Given the description of an element on the screen output the (x, y) to click on. 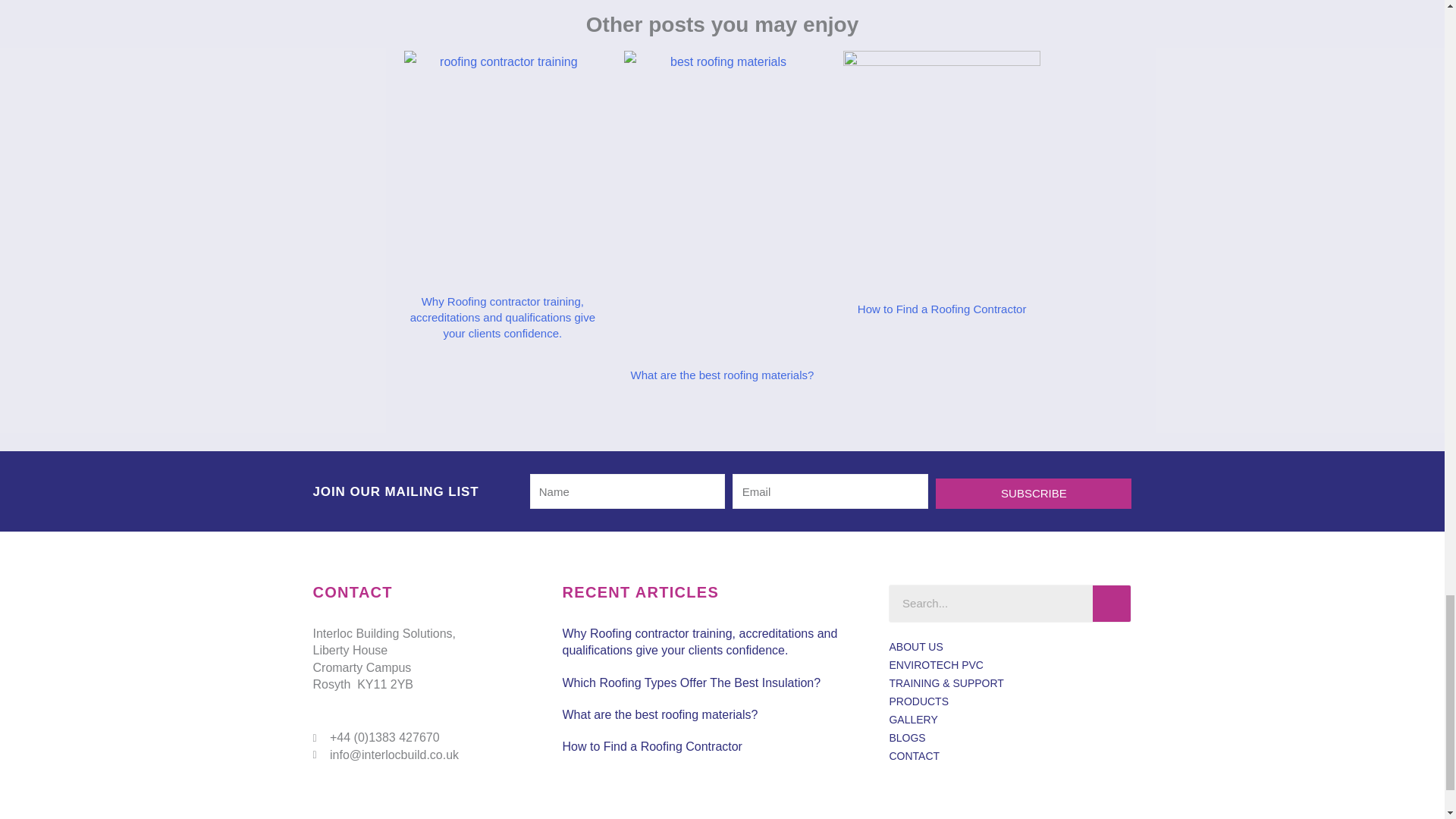
BLOGS (1009, 737)
ABOUT US (1009, 647)
How to Find a Roofing Contractor (941, 308)
GALLERY (1009, 719)
How to Find a Roofing Contractor (652, 746)
CONTACT (1009, 755)
PRODUCTS (1009, 701)
Search (1112, 603)
What are the best roofing materials? (721, 374)
